Given the description of an element on the screen output the (x, y) to click on. 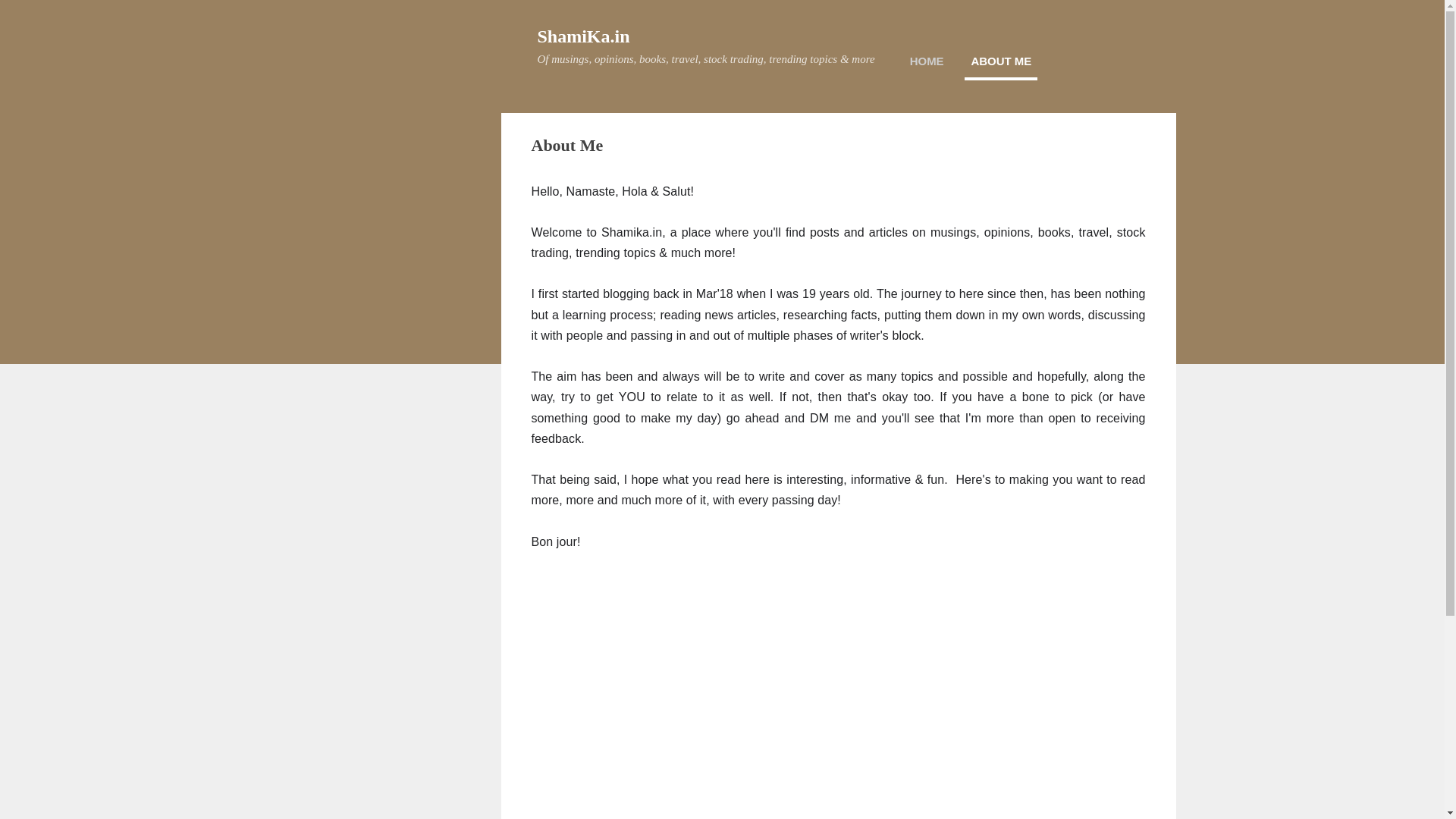
ABOUT ME (999, 60)
ShamiKa.in (582, 35)
HOME (927, 60)
Search (29, 18)
